Given the description of an element on the screen output the (x, y) to click on. 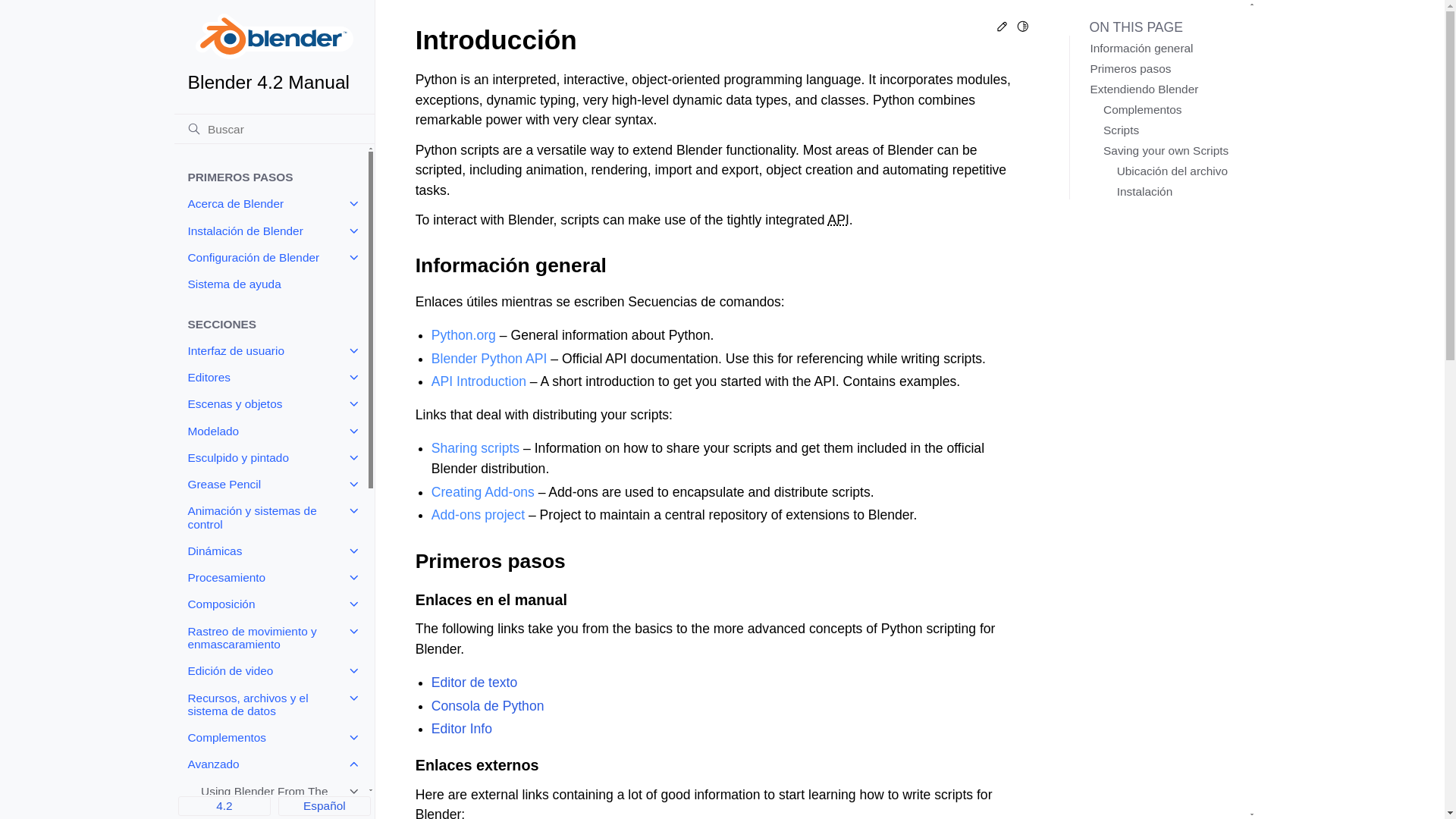
Application Programming Interface (837, 219)
Acerca de Blender (270, 203)
Sistema de ayuda (270, 284)
Blender 4.2 Manual (274, 53)
Interfaz de usuario (270, 350)
Edit this page (1002, 28)
